Given the description of an element on the screen output the (x, y) to click on. 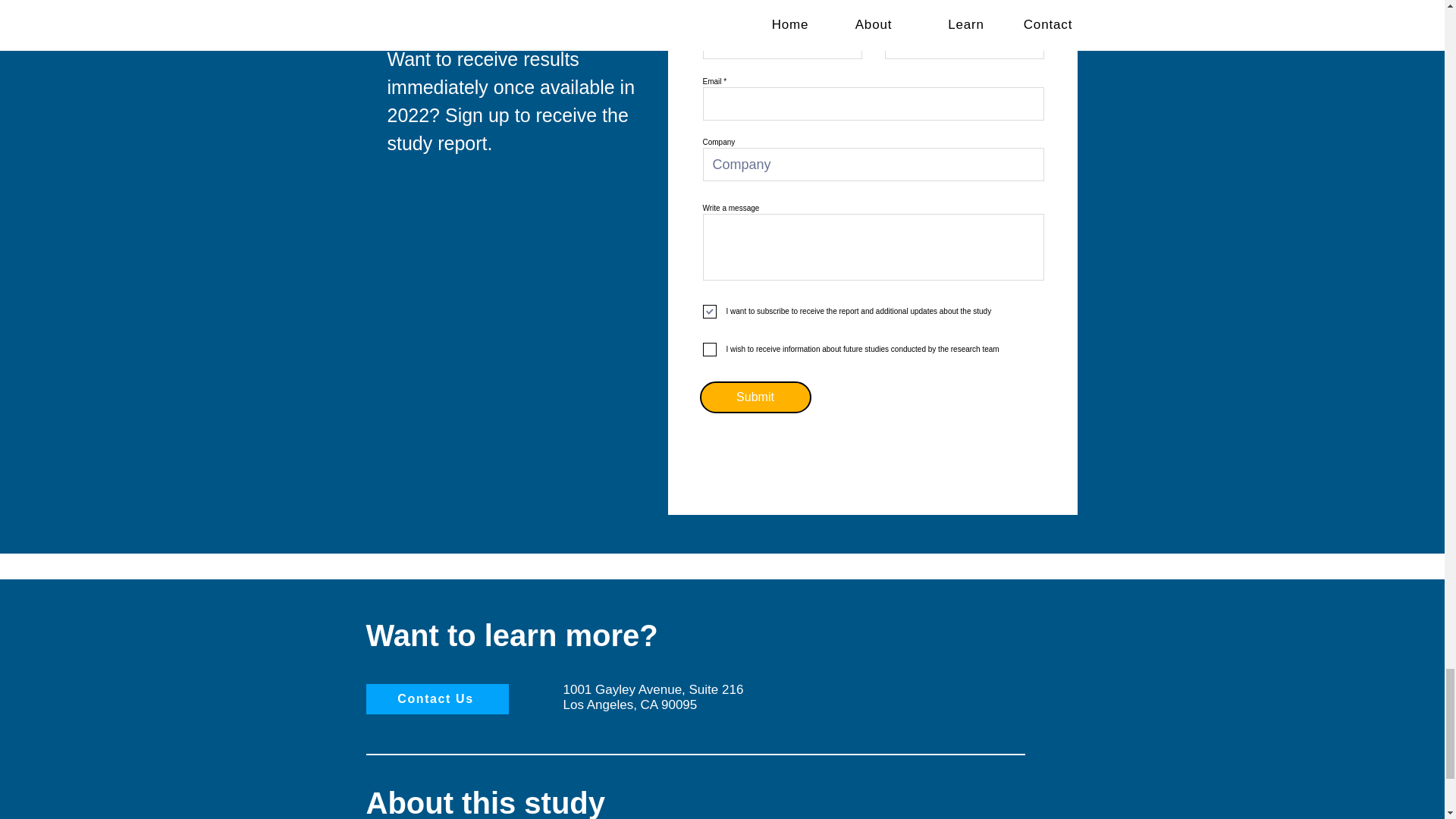
Contact Us (436, 698)
Submit (754, 397)
